Given the description of an element on the screen output the (x, y) to click on. 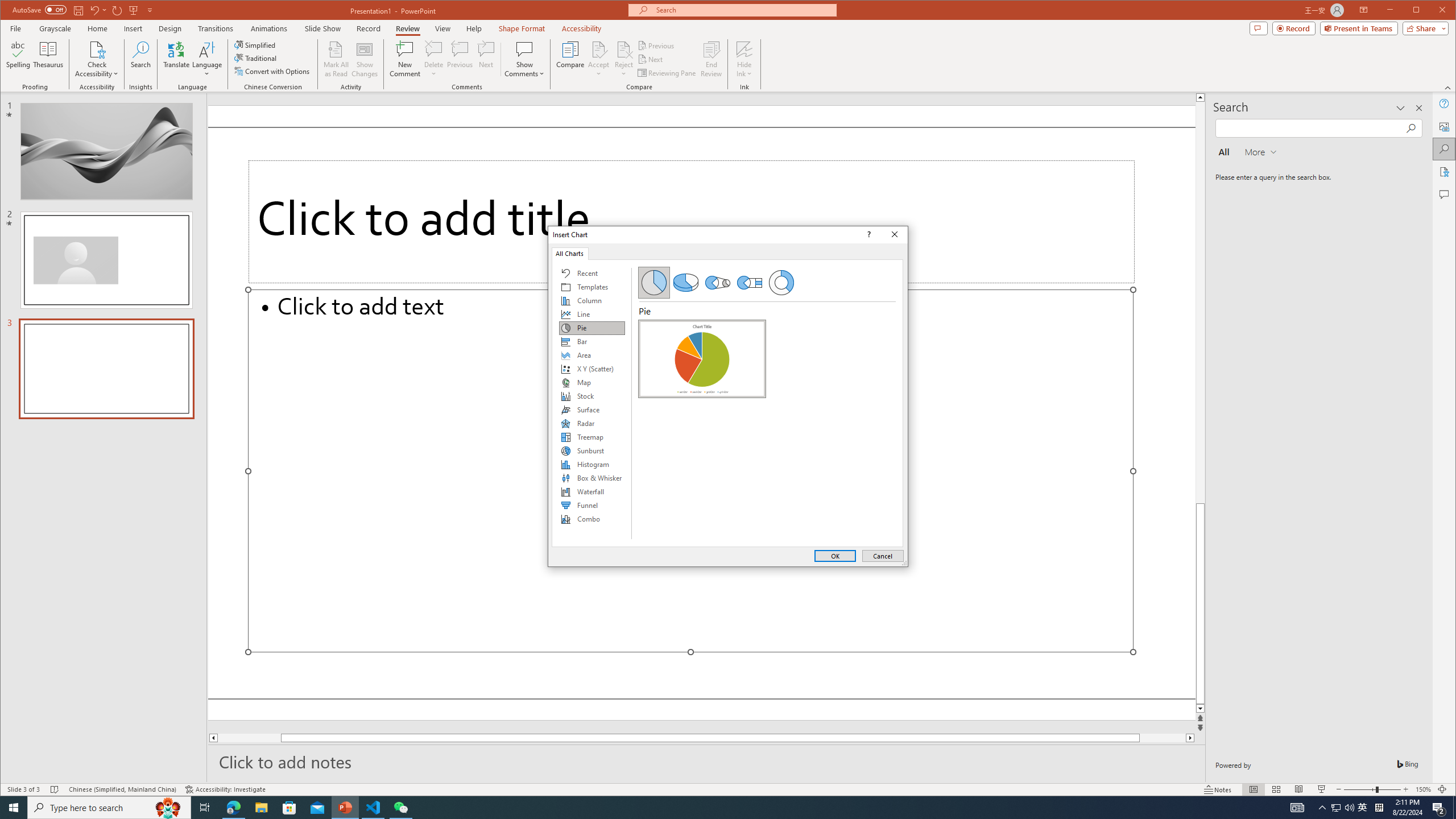
Compare (569, 59)
Hide Ink (744, 59)
Check Accessibility (96, 48)
Waterfall (591, 491)
3-D Pie (685, 282)
Simplified (255, 44)
Line (591, 314)
Recent (591, 273)
